Given the description of an element on the screen output the (x, y) to click on. 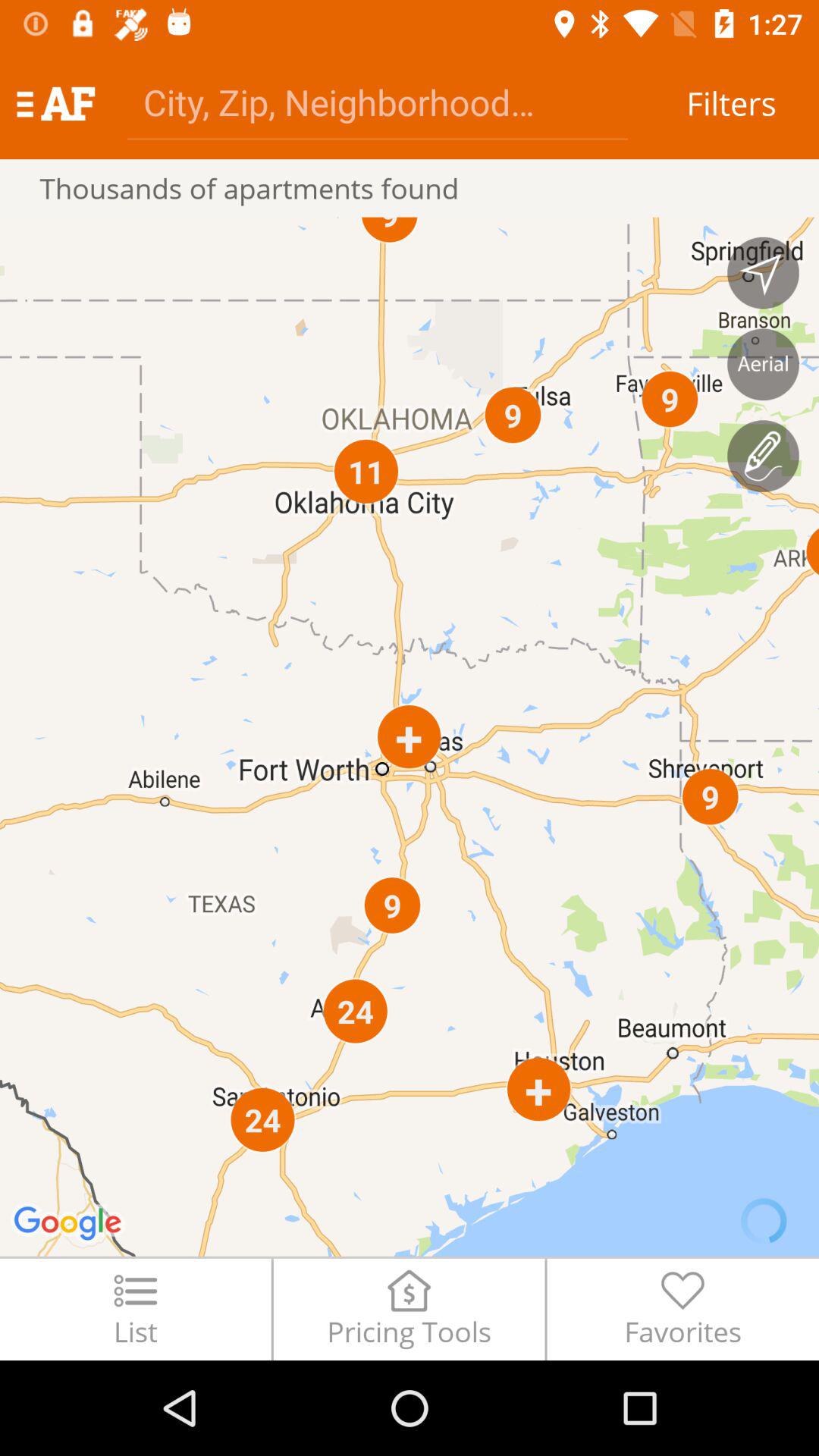
launch the icon to the right of pricing tools icon (683, 1309)
